Given the description of an element on the screen output the (x, y) to click on. 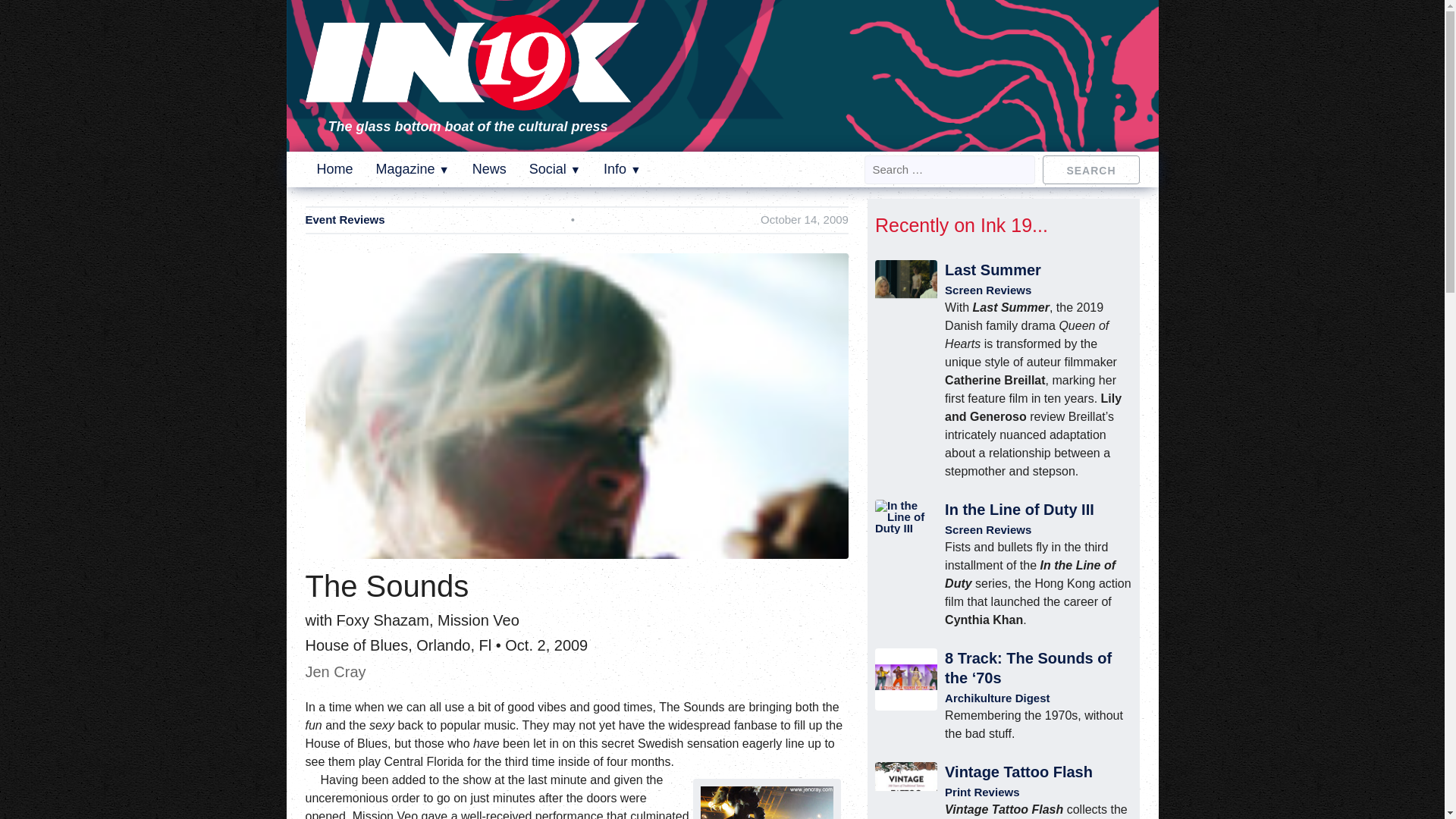
Ink 19 (471, 100)
Magazine (412, 168)
Info (622, 168)
Search (1090, 168)
Home (335, 168)
Search (1090, 168)
Social (554, 168)
Search (1090, 168)
The Sounds (766, 802)
News (488, 168)
